Given the description of an element on the screen output the (x, y) to click on. 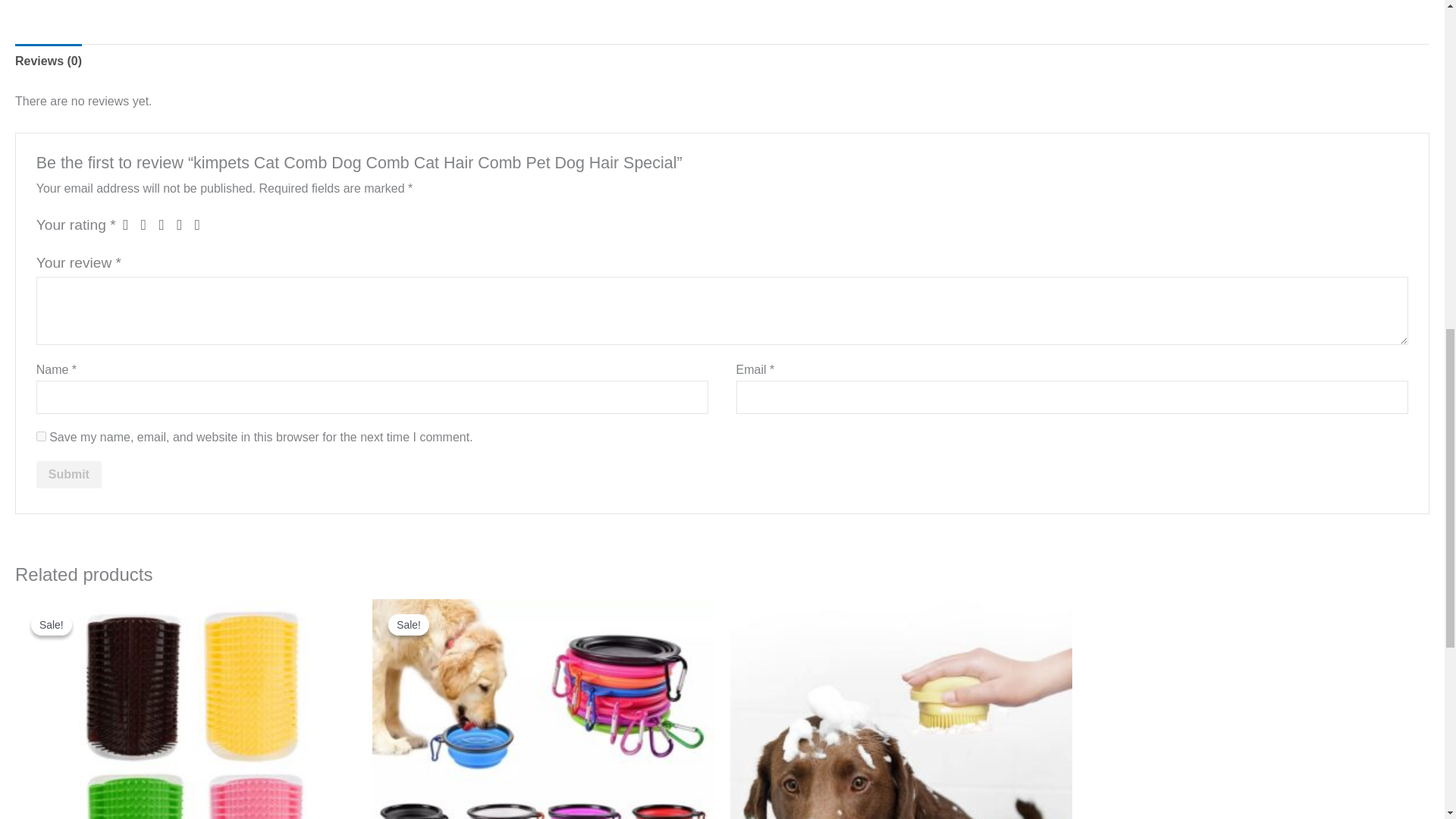
Submit (68, 474)
1 (129, 224)
5 (202, 224)
Submit (68, 474)
3 (165, 224)
2 (148, 224)
yes (41, 436)
4 (183, 224)
